Given the description of an element on the screen output the (x, y) to click on. 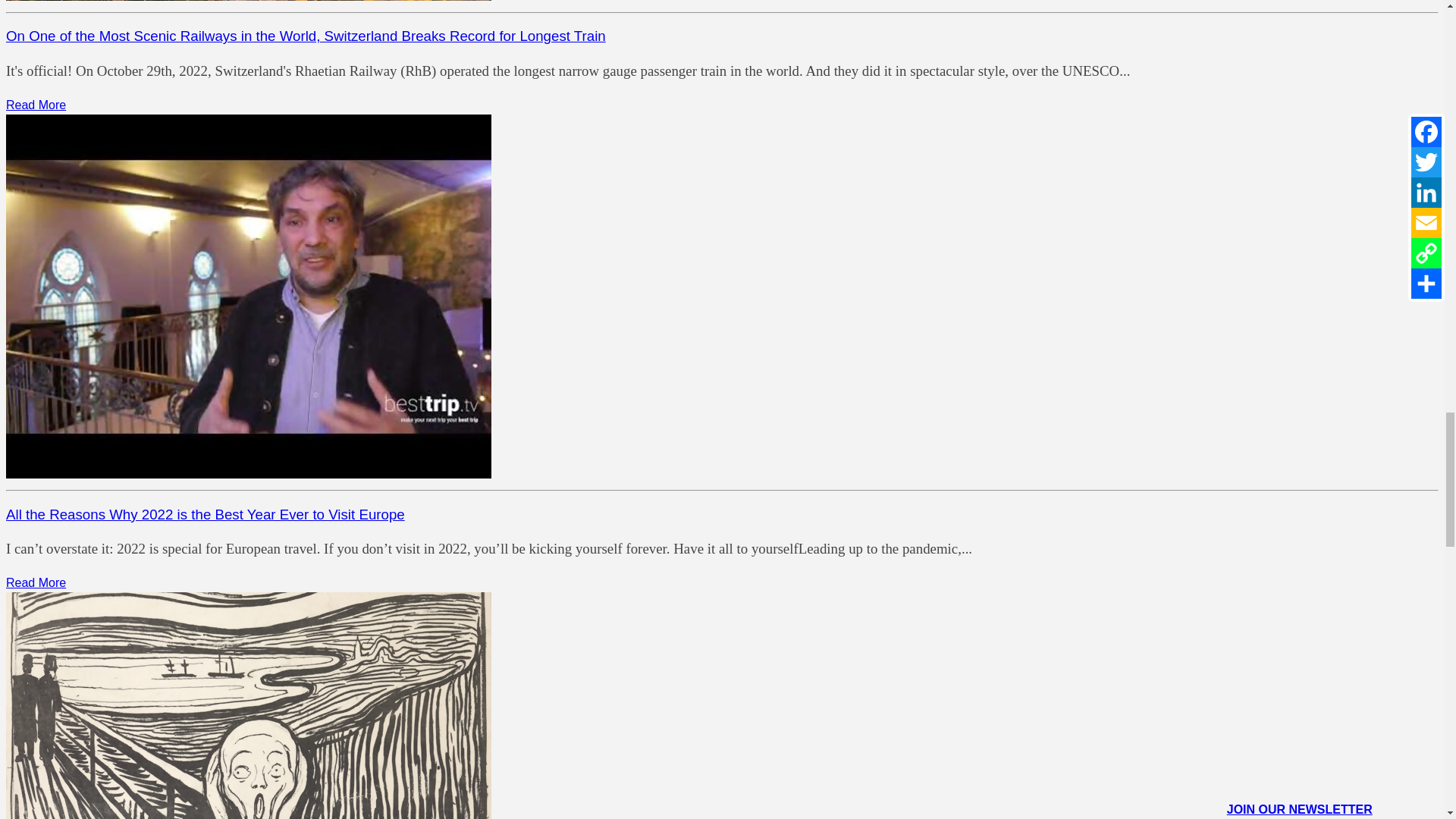
Read More (35, 582)
Read More (35, 104)
